Given the description of an element on the screen output the (x, y) to click on. 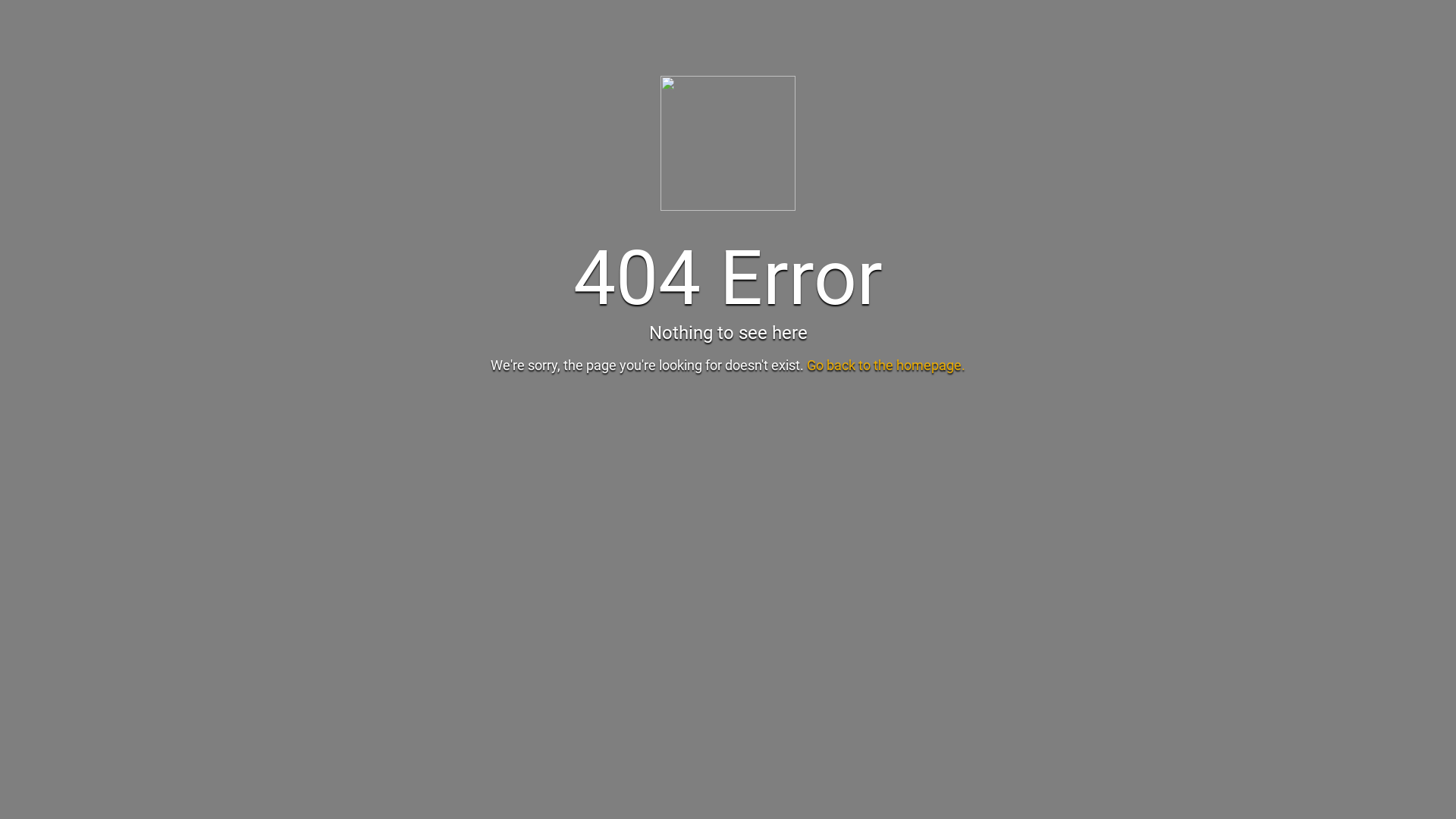
Go back to the homepage. Element type: text (885, 365)
